Given the description of an element on the screen output the (x, y) to click on. 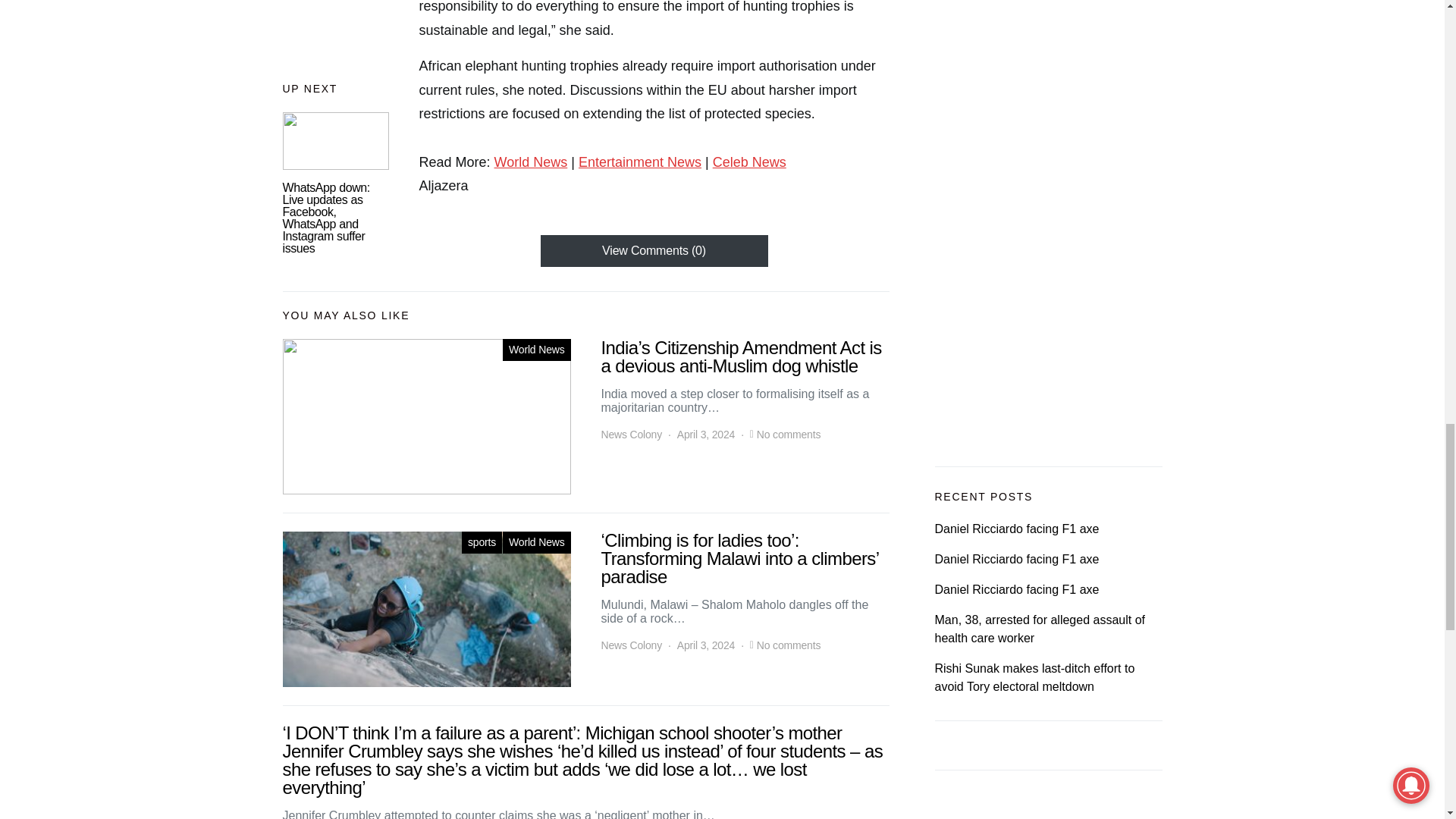
News Colony (630, 434)
World News (536, 350)
Celeb News (749, 161)
View all posts by News Colony (630, 645)
Entertainment News (639, 161)
View all posts by News Colony (630, 434)
No comments (789, 434)
World News (531, 161)
